Given the description of an element on the screen output the (x, y) to click on. 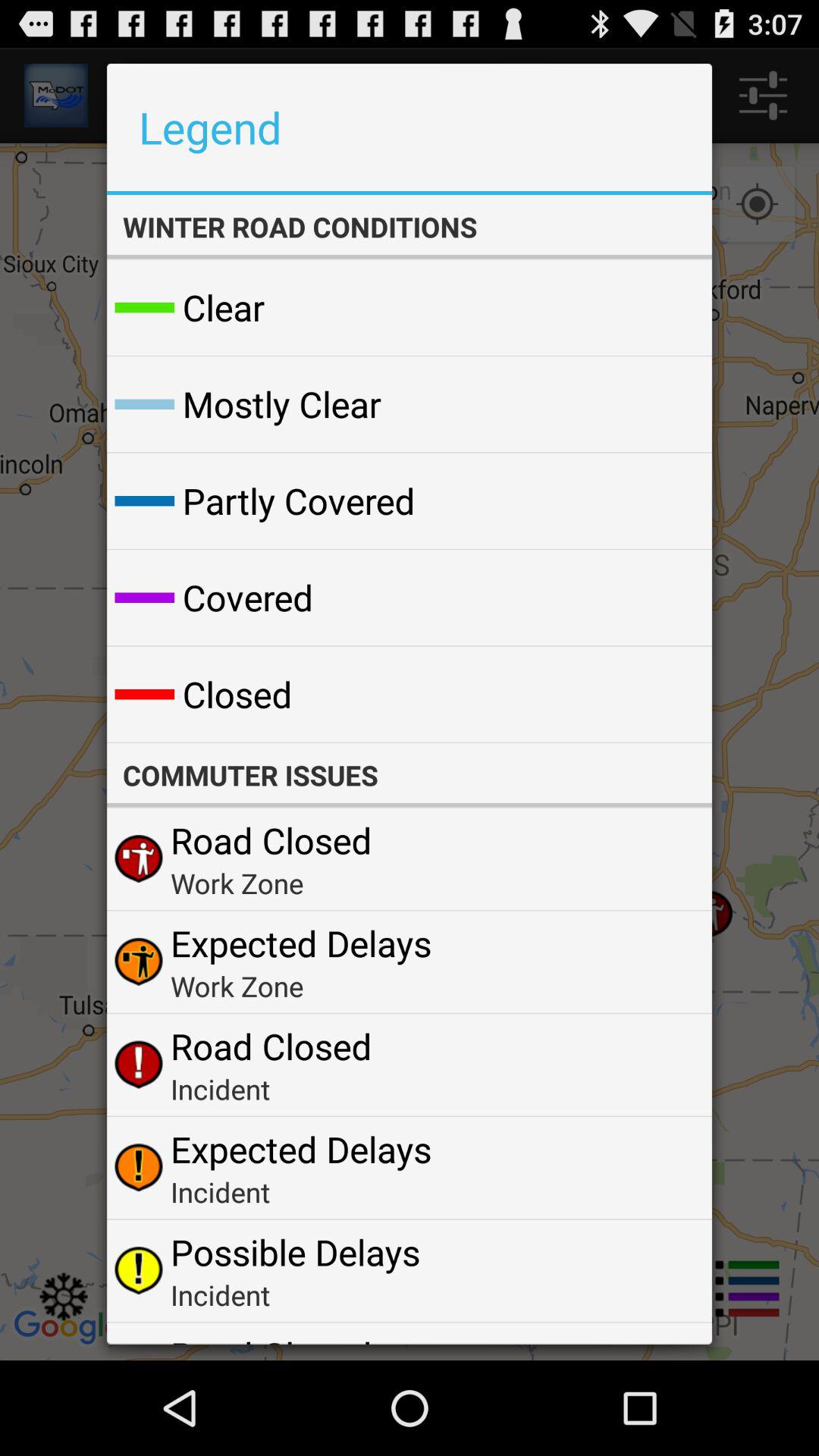
select app below mostly clear icon (298, 500)
